Given the description of an element on the screen output the (x, y) to click on. 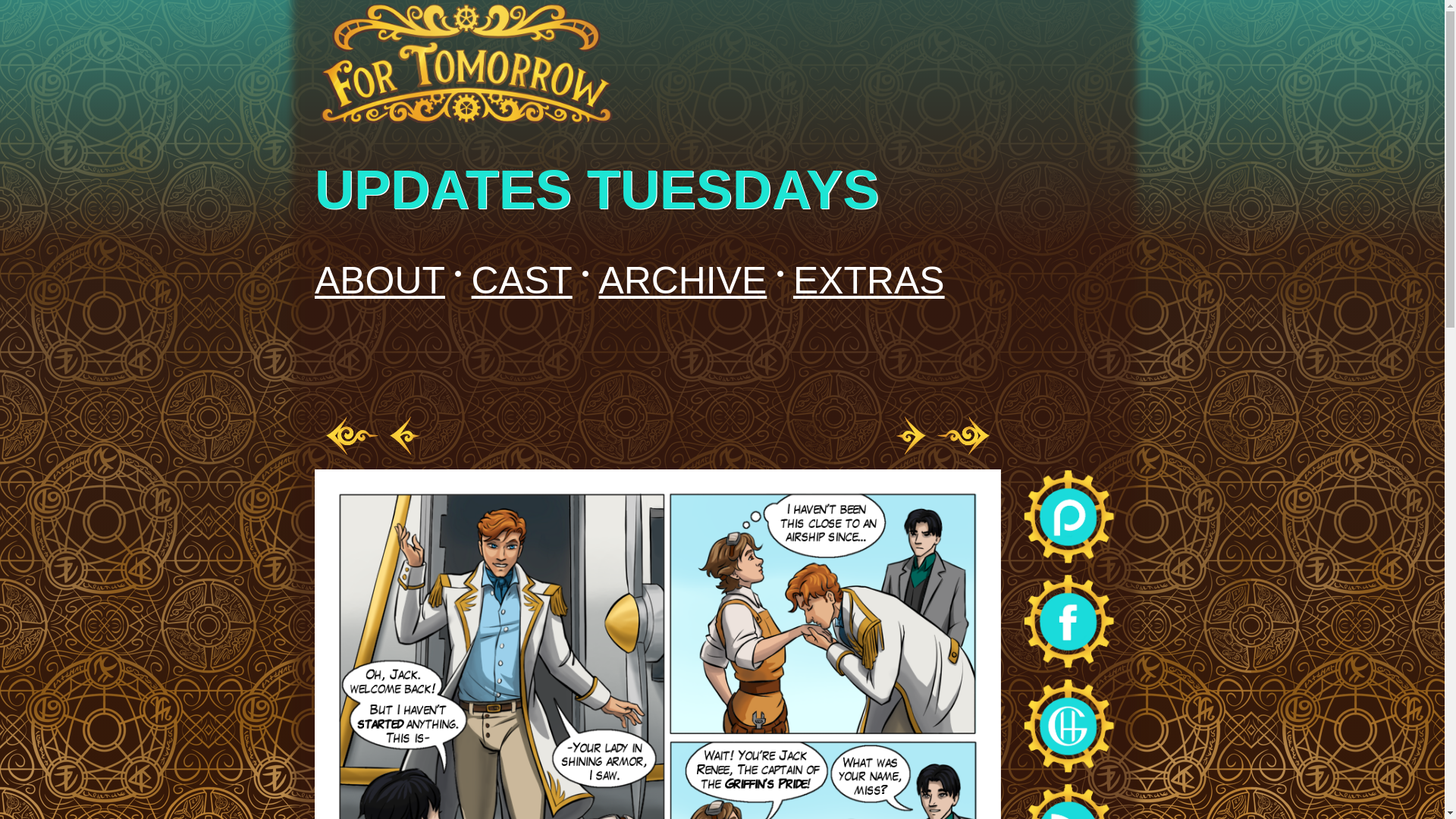
CAST (521, 280)
ARCHIVE (682, 280)
ABOUT (379, 280)
Previous (405, 435)
First (352, 435)
